Given the description of an element on the screen output the (x, y) to click on. 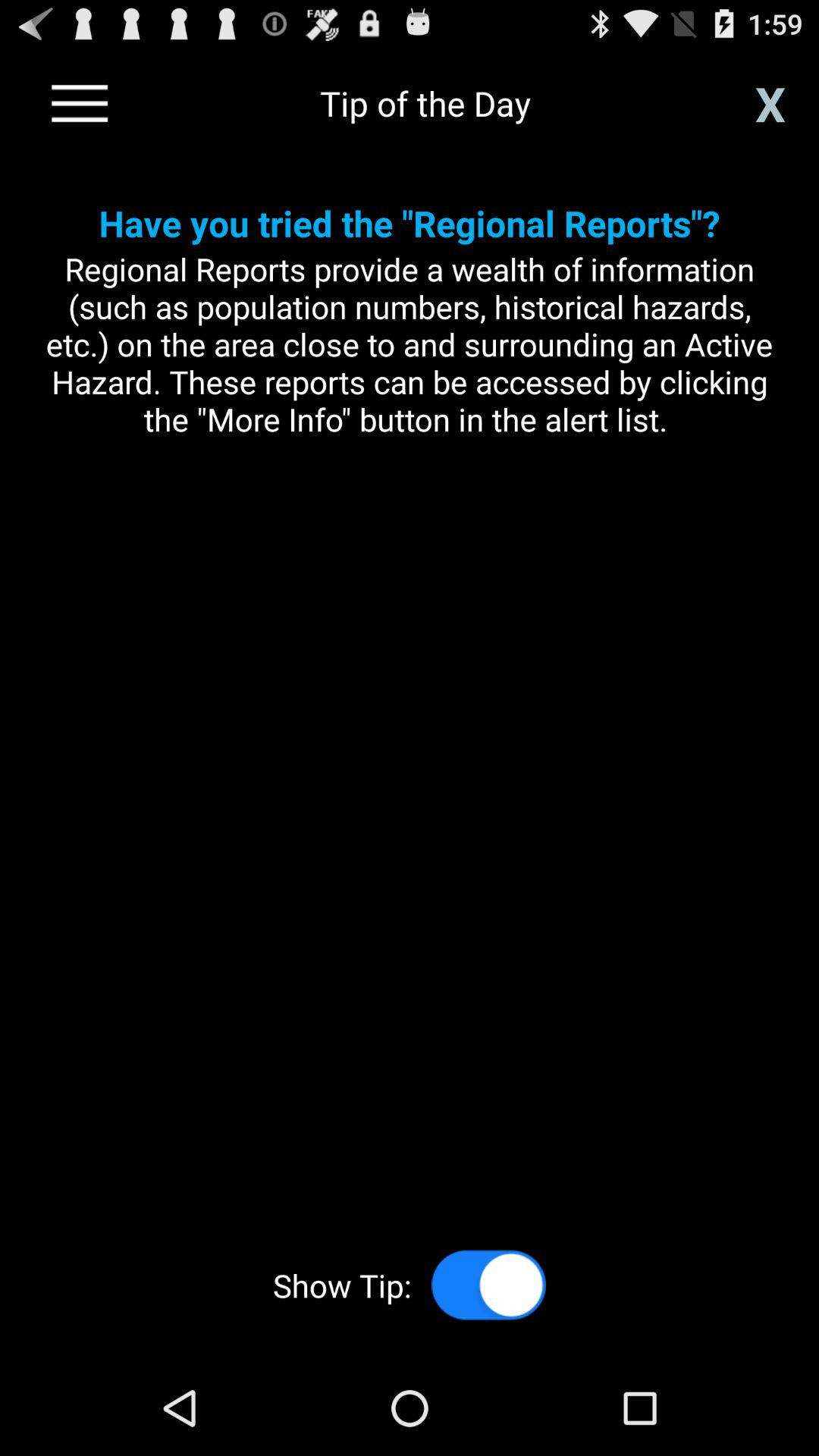
toggle tips option (488, 1285)
